Given the description of an element on the screen output the (x, y) to click on. 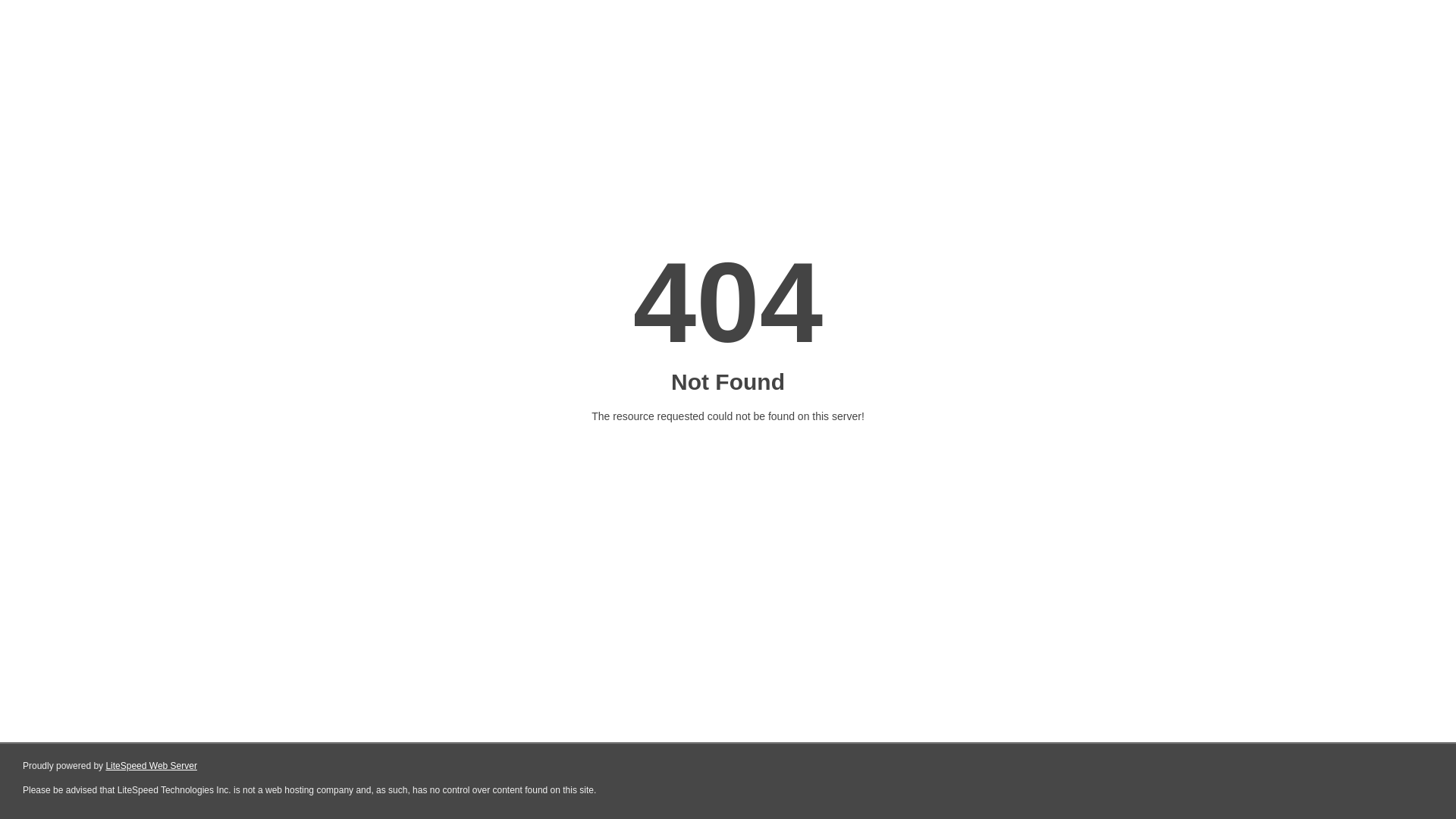
LiteSpeed Web Server Element type: text (151, 765)
